Given the description of an element on the screen output the (x, y) to click on. 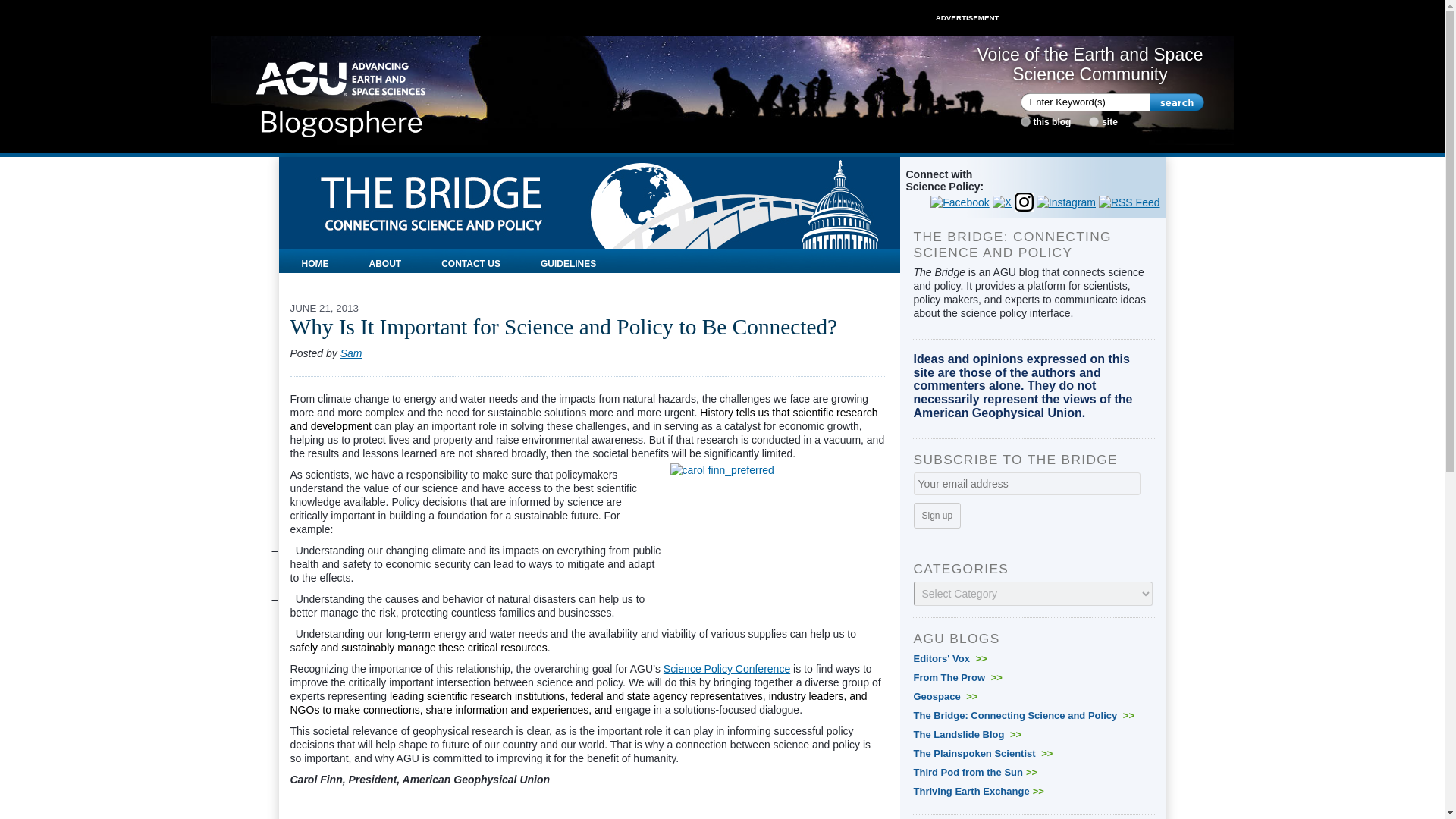
Sam (351, 353)
all (1094, 121)
CONTACT US (470, 260)
Science Policy Conference (726, 668)
blog (1025, 121)
Sign up (936, 515)
Sign up (936, 515)
GUIDELINES (567, 260)
Why Is It Important for Science and Policy to Be Connected? (563, 326)
ABOUT (385, 260)
Home (341, 94)
HOME (314, 260)
